Given the description of an element on the screen output the (x, y) to click on. 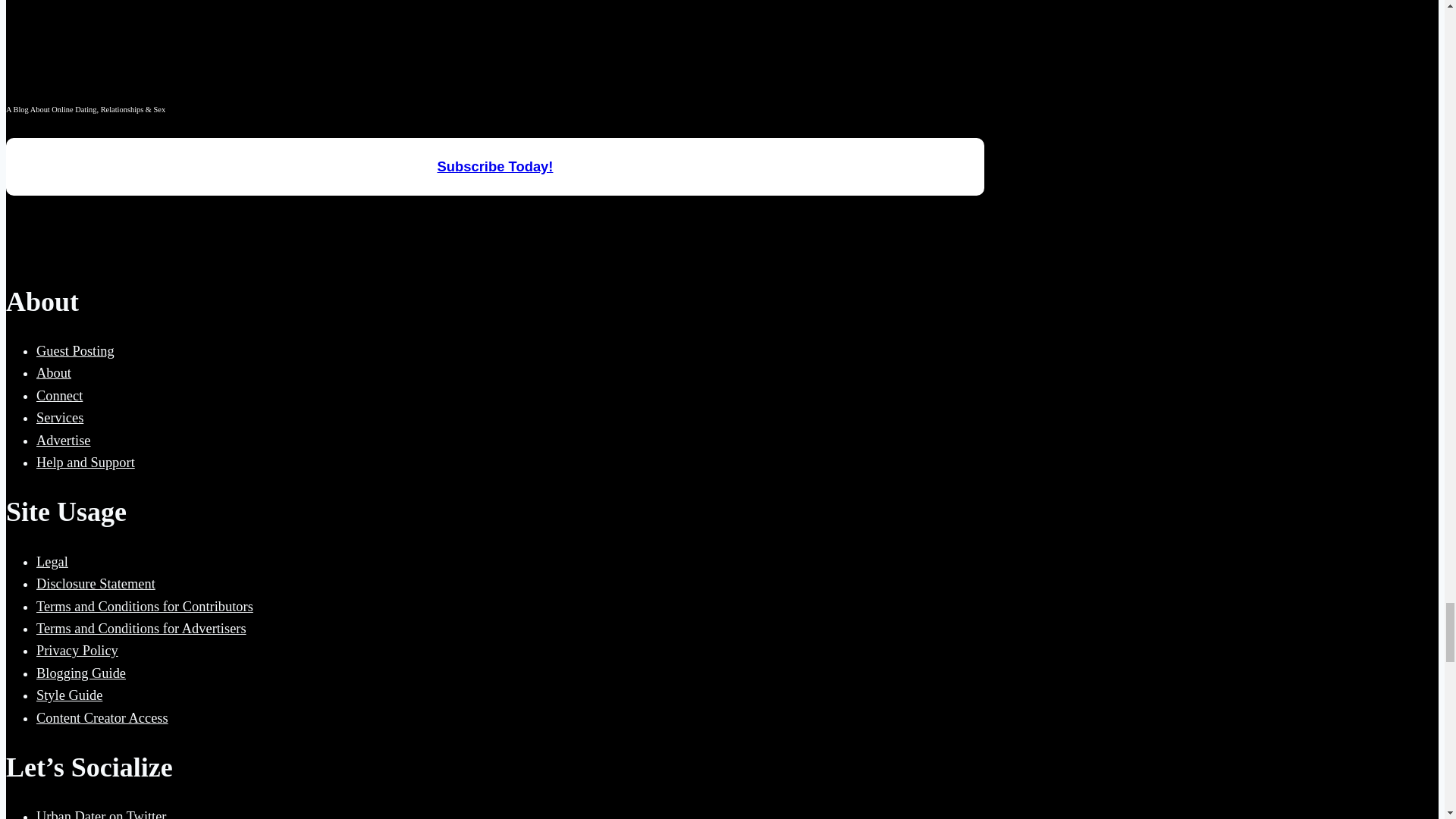
Urban Dater on Twitter (101, 814)
